Given the description of an element on the screen output the (x, y) to click on. 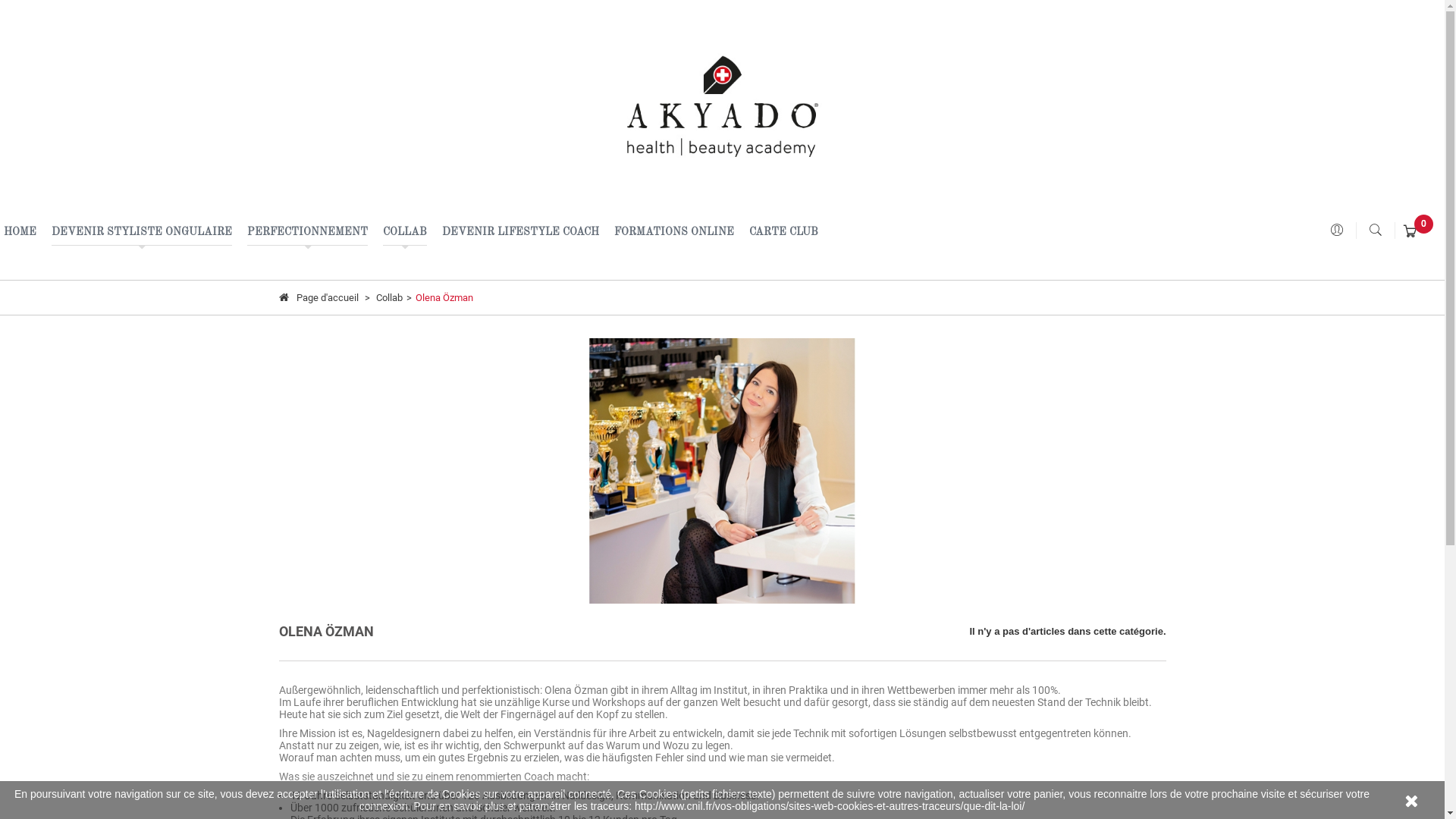
FORMATIONS ONLINE Element type: text (673, 231)
Page d'accueil Element type: text (319, 297)
PERFECTIONNEMENT Element type: text (307, 231)
DEVENIR LIFESTYLE COACH Element type: text (520, 231)
COLLAB Element type: text (404, 231)
0 Element type: text (1410, 231)
DEVENIR STYLISTE ONGULAIRE Element type: text (141, 231)
Akyado Academy Remaufens Element type: hover (722, 106)
Collab Element type: text (389, 297)
CARTE CLUB Element type: text (783, 231)
